Given the description of an element on the screen output the (x, y) to click on. 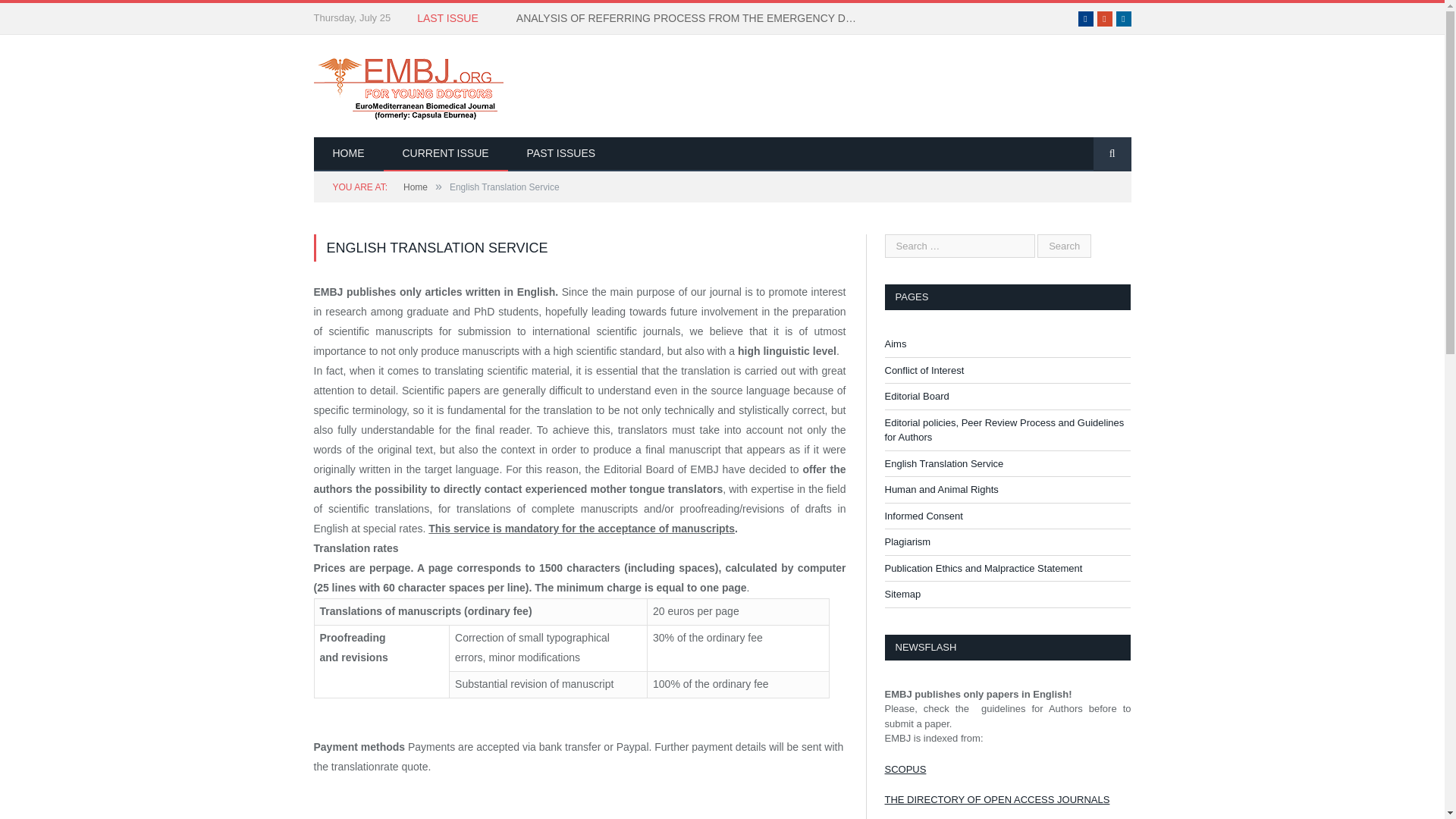
English Translation Service (943, 463)
Human and Animal Rights (940, 489)
Plagiarism (906, 541)
Publication Ethics and Malpractice Statement (982, 568)
LinkedIn (1123, 18)
Search (1063, 245)
SCOPUS (904, 767)
Informed Consent (922, 514)
Search (1063, 245)
LinkedIn (1123, 18)
Facebook (1085, 18)
Editorial Board (916, 396)
HOME (349, 154)
Home (415, 186)
CURRENT ISSUE (446, 154)
